Given the description of an element on the screen output the (x, y) to click on. 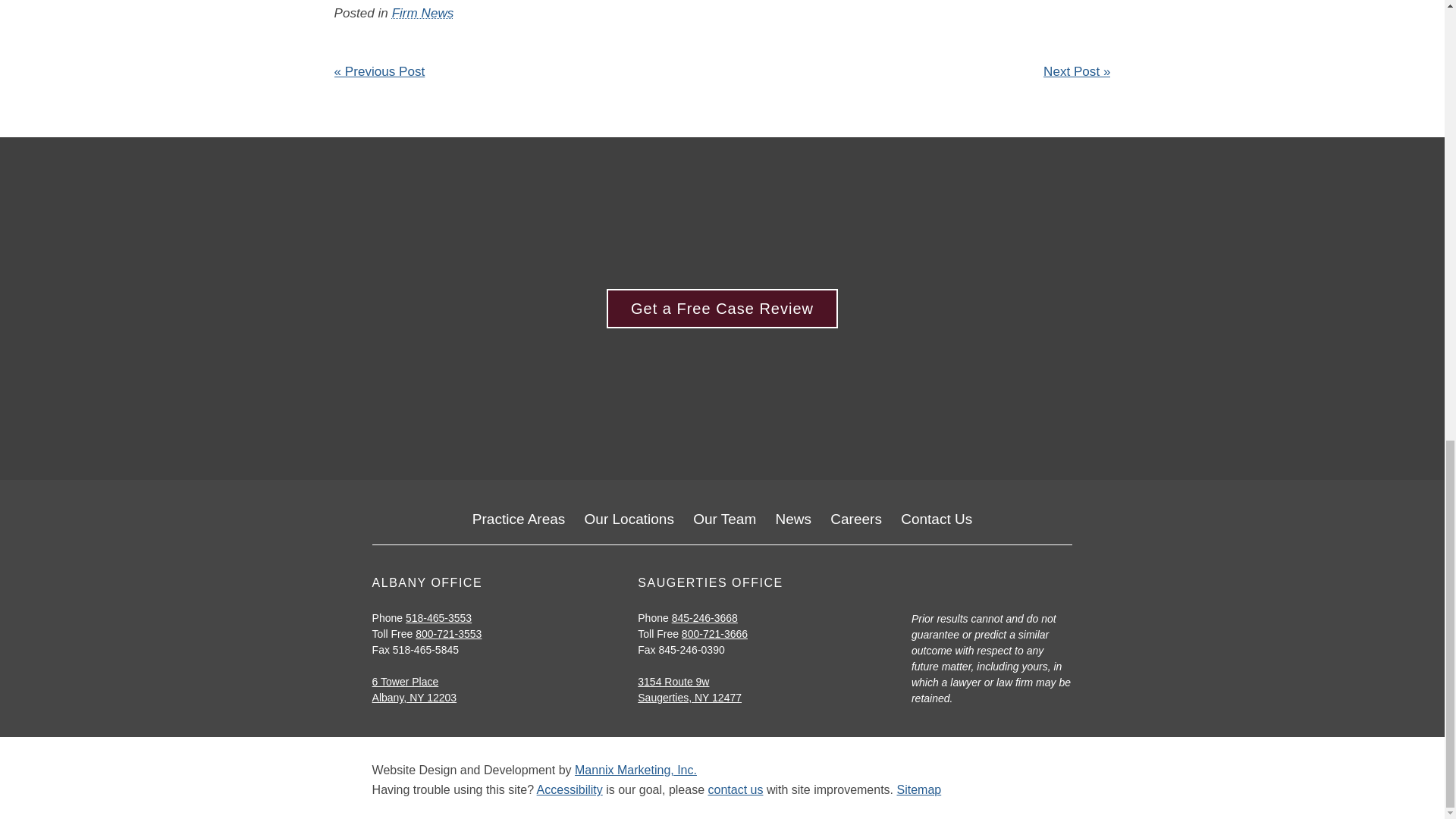
Opens in a new window (405, 681)
Opens in a new window (636, 769)
Careers (855, 519)
Opens in a new window (673, 681)
Practice Areas (518, 519)
News (794, 519)
Get a Free Case Review (722, 308)
Our Locations (629, 519)
Firm News (422, 12)
Our Team (724, 519)
